Given the description of an element on the screen output the (x, y) to click on. 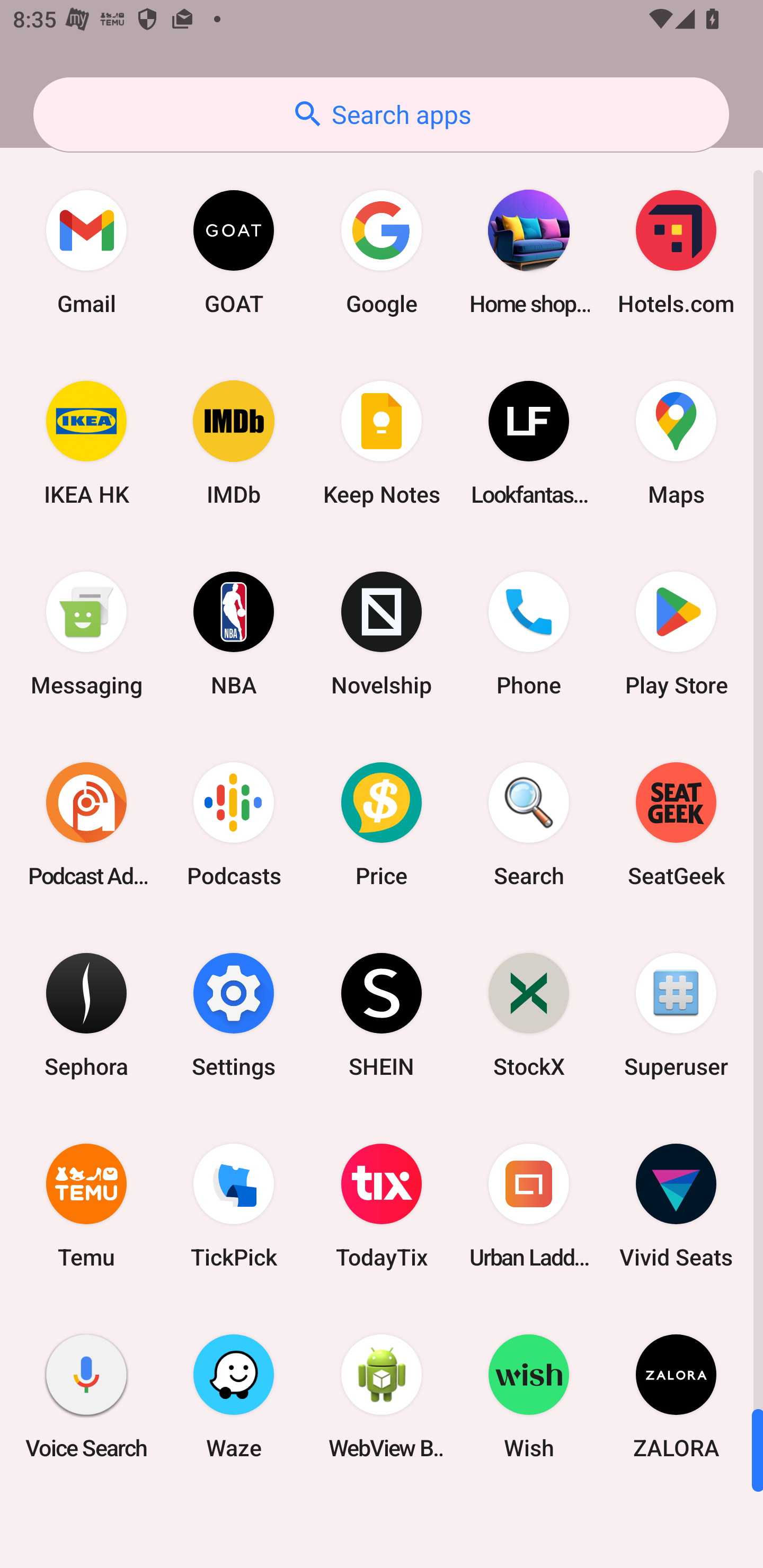
  Search apps (381, 114)
Gmail (86, 252)
GOAT (233, 252)
Google (381, 252)
Home shopping (528, 252)
Hotels.com (676, 252)
IKEA HK (86, 442)
IMDb (233, 442)
Keep Notes (381, 442)
Lookfantastic (528, 442)
Maps (676, 442)
Messaging (86, 633)
NBA (233, 633)
Novelship (381, 633)
Phone (528, 633)
Play Store (676, 633)
Podcast Addict (86, 823)
Podcasts (233, 823)
Price (381, 823)
Search (528, 823)
SeatGeek (676, 823)
Sephora (86, 1014)
Settings (233, 1014)
SHEIN (381, 1014)
StockX (528, 1014)
Superuser (676, 1014)
Temu (86, 1205)
TickPick (233, 1205)
TodayTix (381, 1205)
Urban Ladder (528, 1205)
Vivid Seats (676, 1205)
Voice Search (86, 1396)
Waze (233, 1396)
WebView Browser Tester (381, 1396)
Wish (528, 1396)
ZALORA (676, 1396)
